Given the description of an element on the screen output the (x, y) to click on. 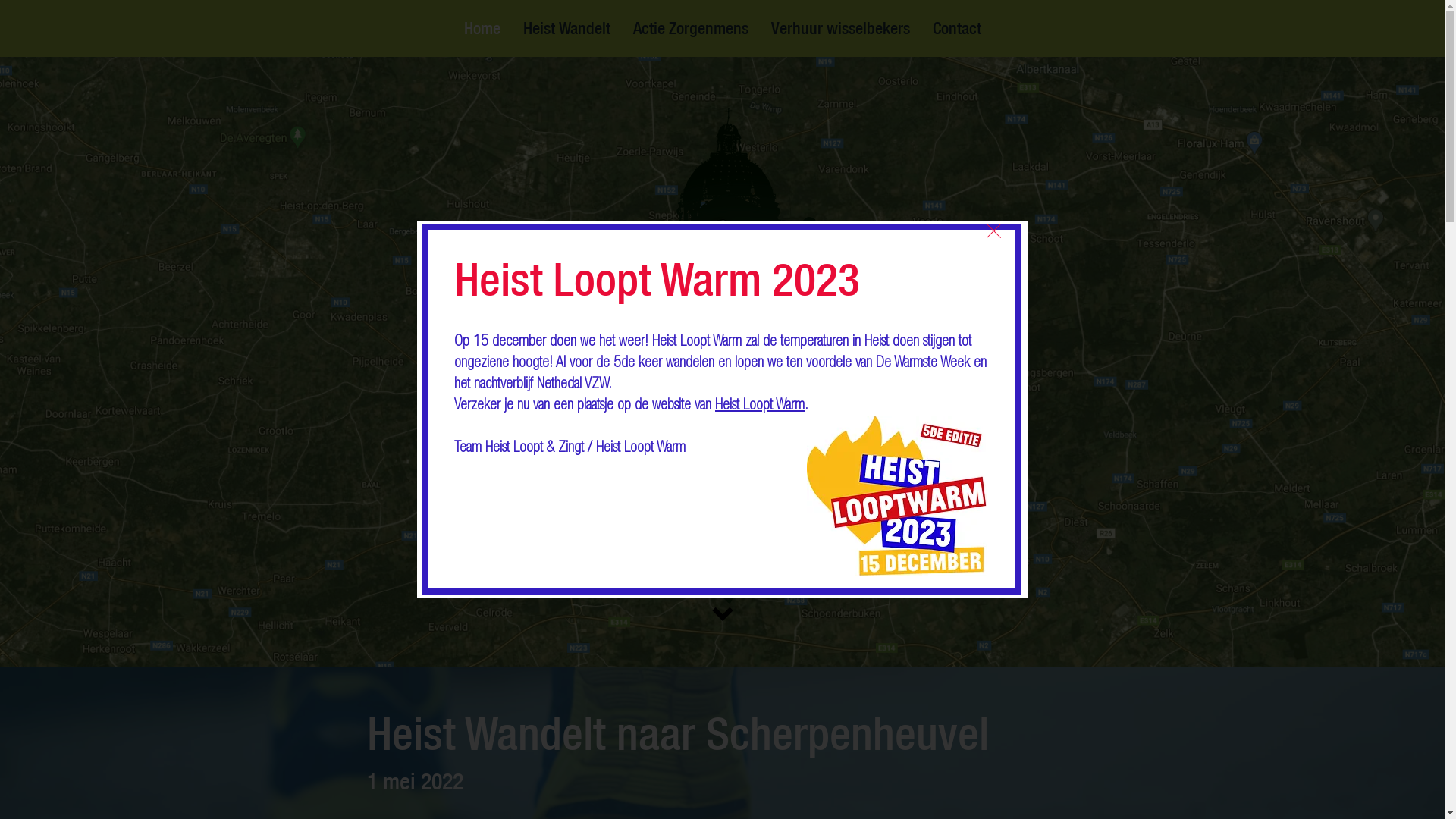
Heist Wandelt Element type: text (566, 27)
Terug naar de website Element type: hover (993, 230)
Home Element type: text (481, 27)
Heist Loopt Warm Element type: text (759, 406)
Actie Zorgenmens Element type: text (690, 27)
Verhuur wisselbekers Element type: text (840, 27)
Contact Element type: text (955, 27)
